Given the description of an element on the screen output the (x, y) to click on. 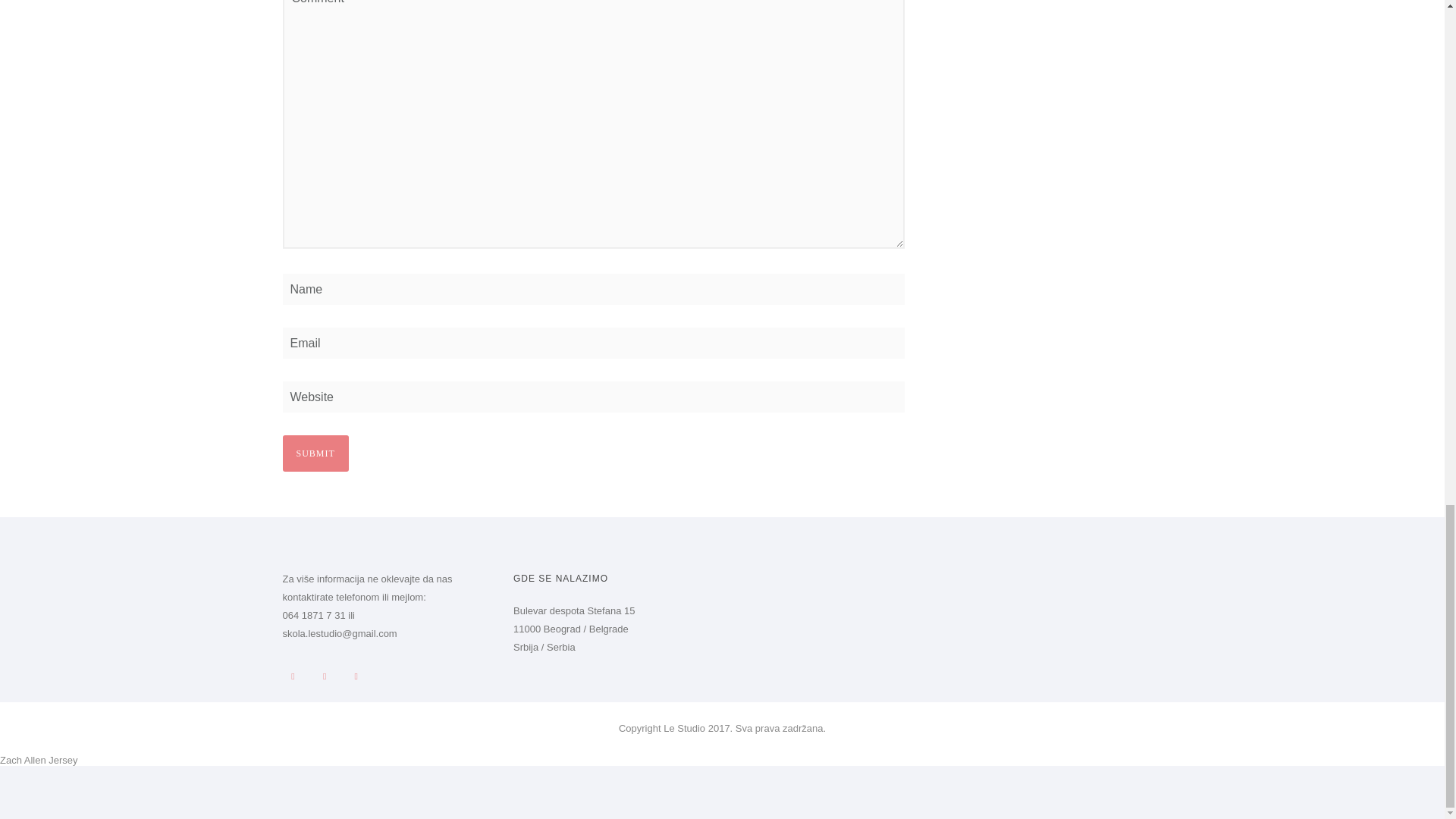
Submit (314, 452)
Submit (314, 452)
Zach Allen Jersey (39, 759)
